Given the description of an element on the screen output the (x, y) to click on. 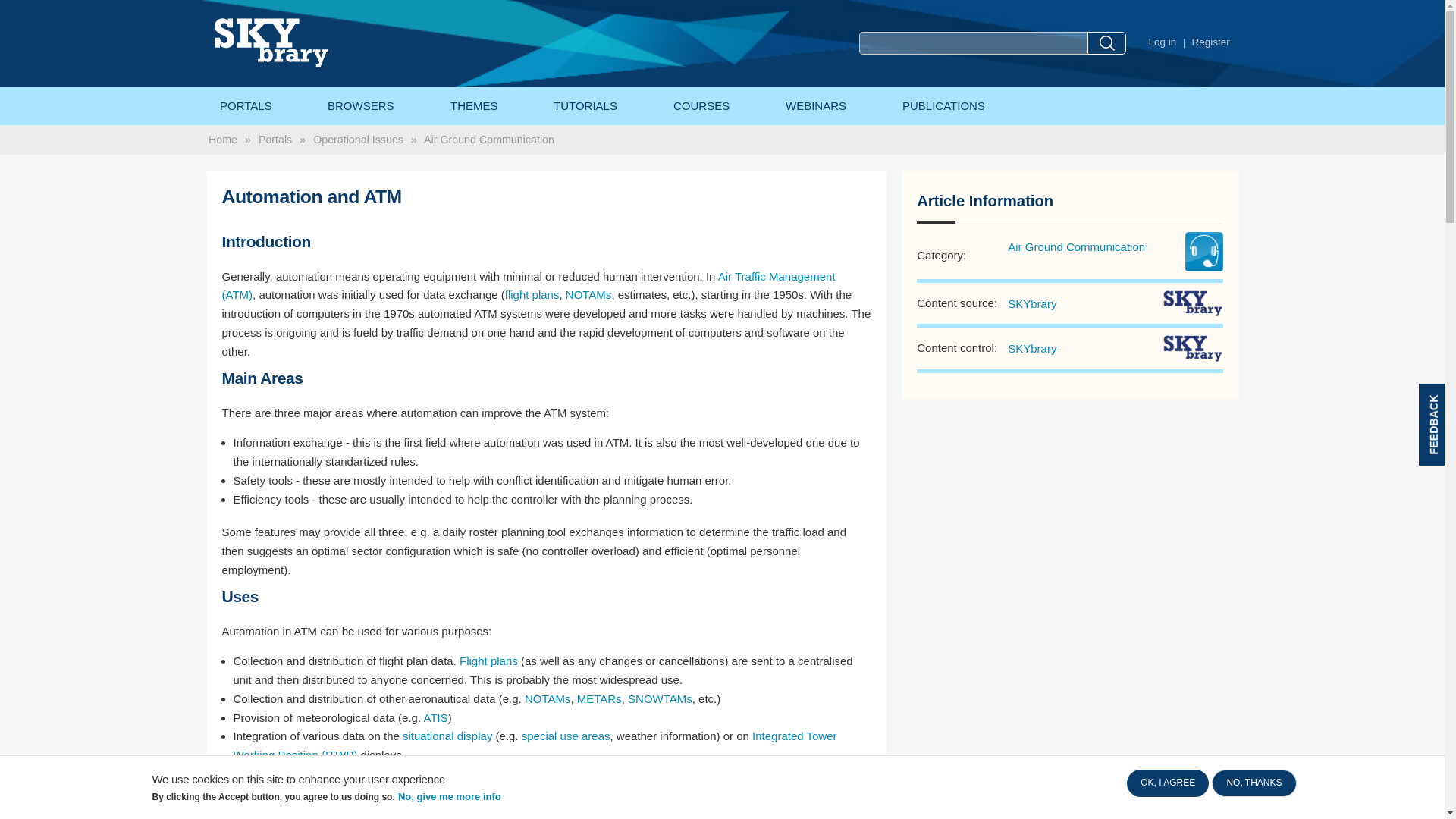
Search (1106, 42)
Search (1106, 42)
Home (302, 43)
PORTALS (244, 105)
Register (1211, 42)
Enter the terms you wish to search for. (973, 42)
Log in (1162, 42)
